Given the description of an element on the screen output the (x, y) to click on. 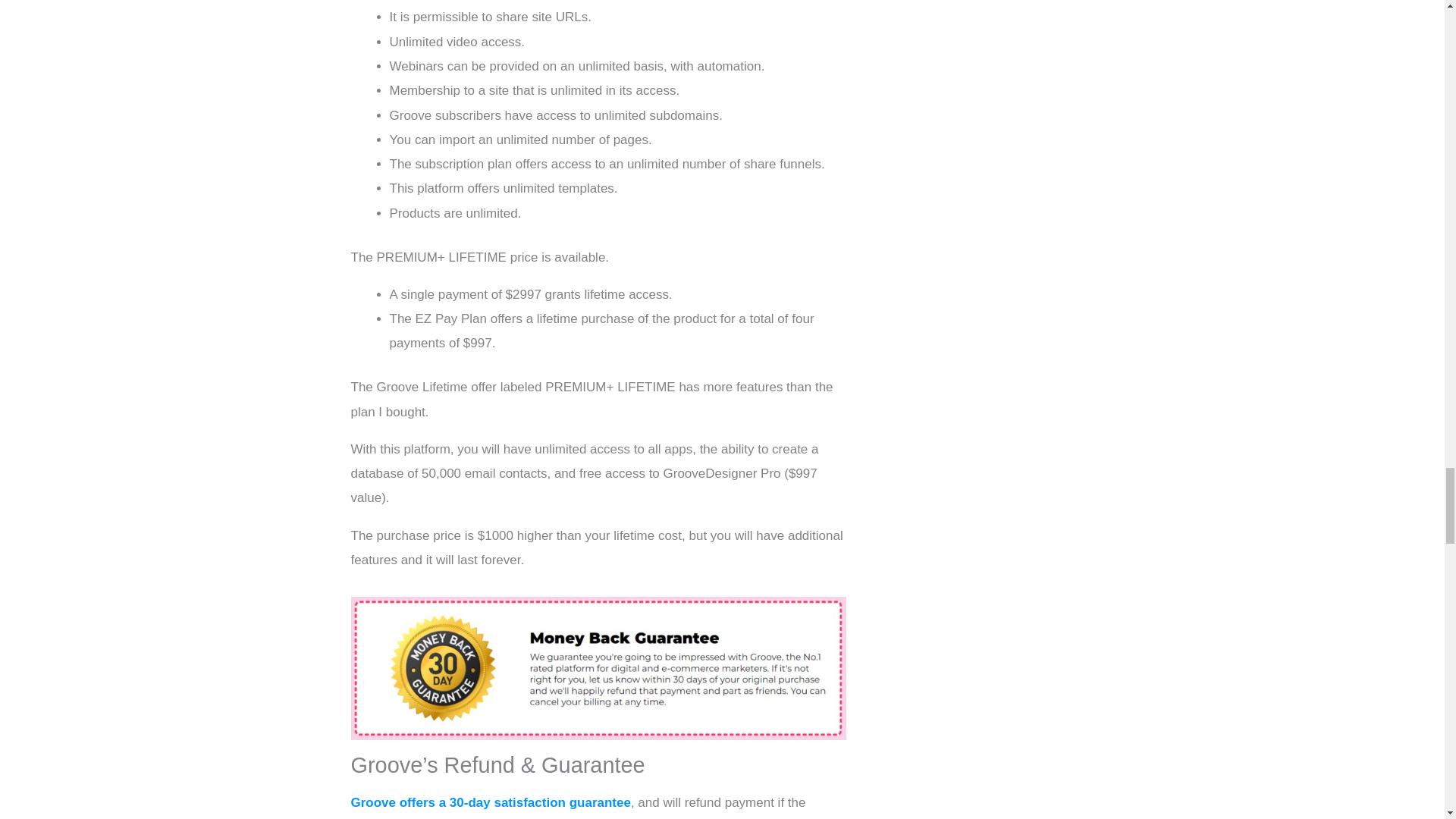
Groove offers a 30-day satisfaction guarantee (490, 802)
